Given the description of an element on the screen output the (x, y) to click on. 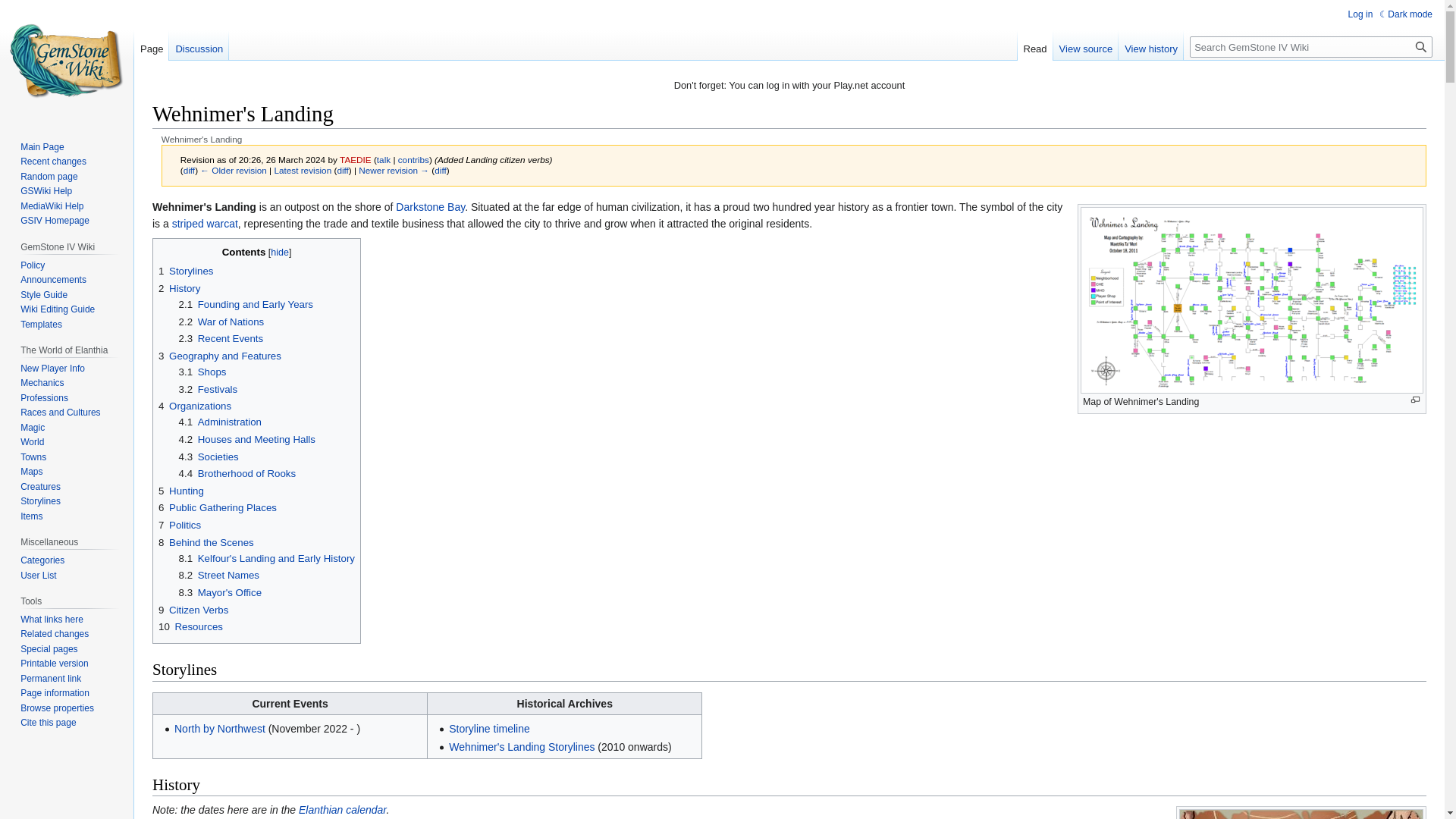
6 Public Gathering Places (217, 507)
8.1 Kelfour's Landing and Early History (267, 558)
striped warcat (204, 223)
9 Citizen Verbs (193, 609)
Go (1420, 46)
Darkstone Bay (430, 206)
Wehnimer's Landing (233, 170)
5 Hunting (180, 490)
contribs (413, 159)
Wehnimer's Landing (341, 170)
